Given the description of an element on the screen output the (x, y) to click on. 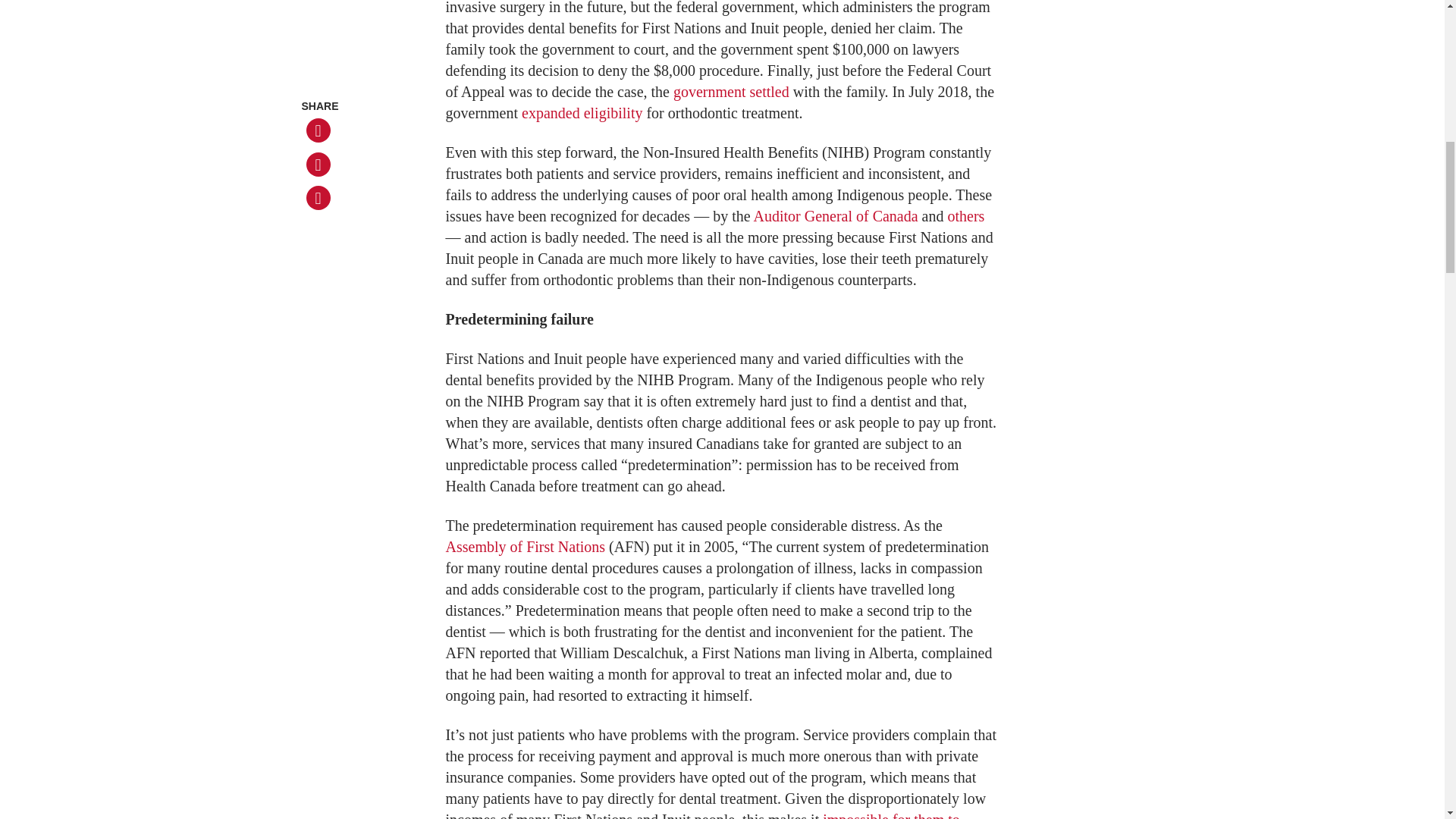
expanded eligibility (581, 112)
government settled (730, 91)
Assembly of First Nations (525, 546)
impossible for them to access care (702, 815)
Auditor General of Canada (834, 216)
others (966, 216)
